Given the description of an element on the screen output the (x, y) to click on. 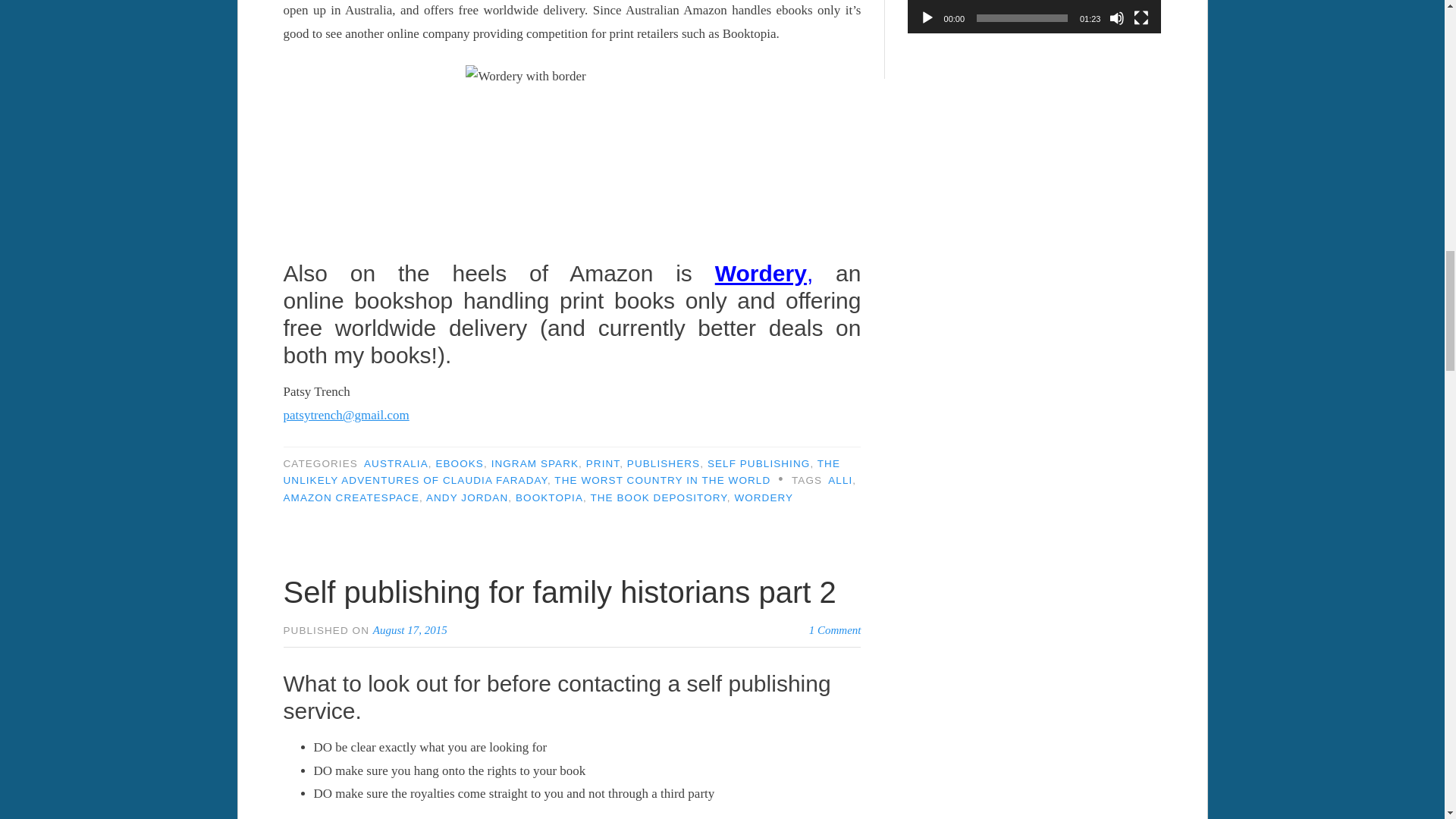
Play (927, 17)
Fullscreen (1141, 17)
Mute (1116, 17)
AUSTRALIA (396, 463)
EBOOKS (459, 463)
Wordery (760, 273)
